Given the description of an element on the screen output the (x, y) to click on. 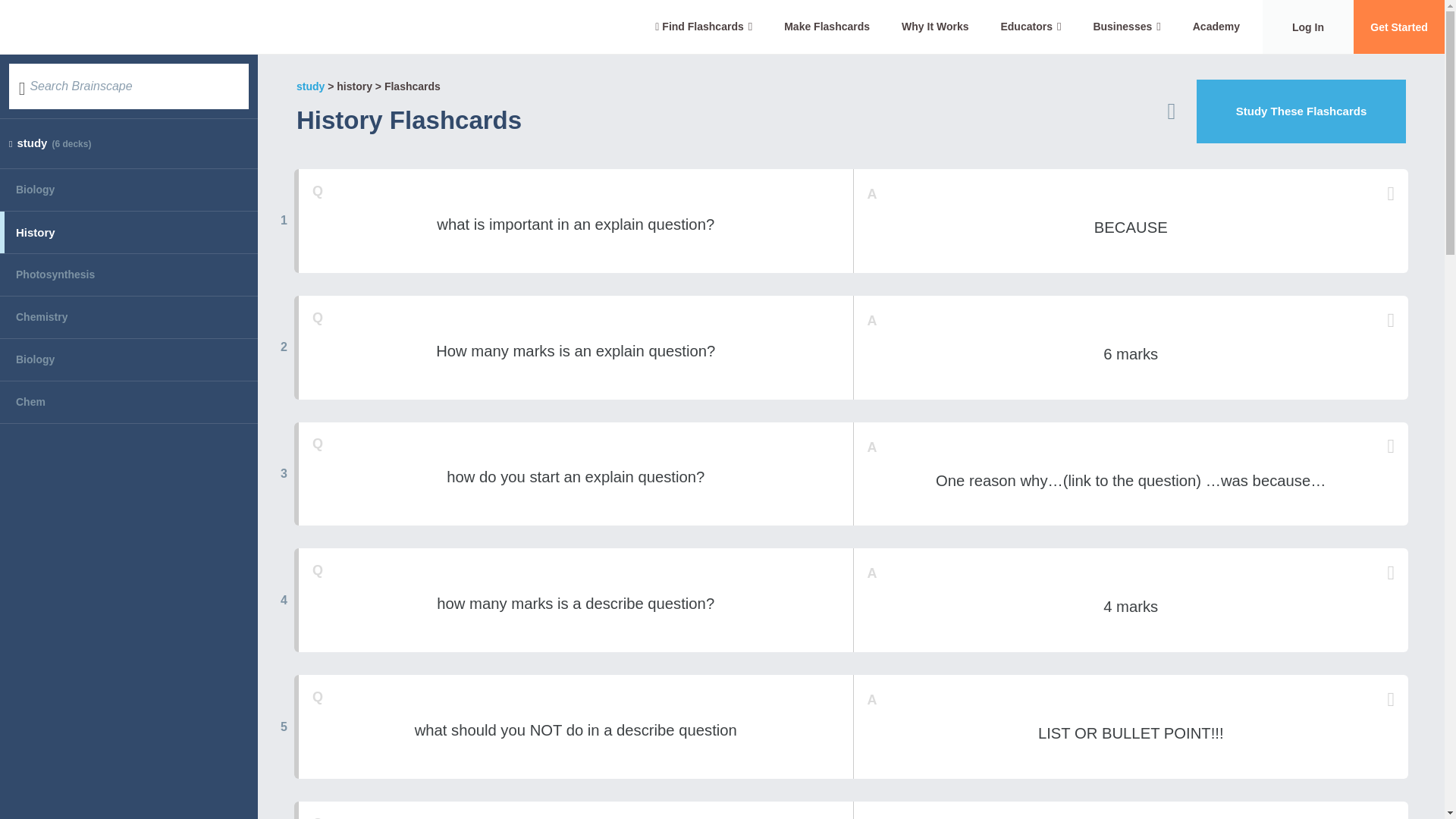
Why It Works (934, 27)
History (128, 232)
study (310, 86)
Biology (128, 189)
Brainscape (111, 26)
Ellie Lamont (536, 124)
Find Flashcards (703, 27)
